Given the description of an element on the screen output the (x, y) to click on. 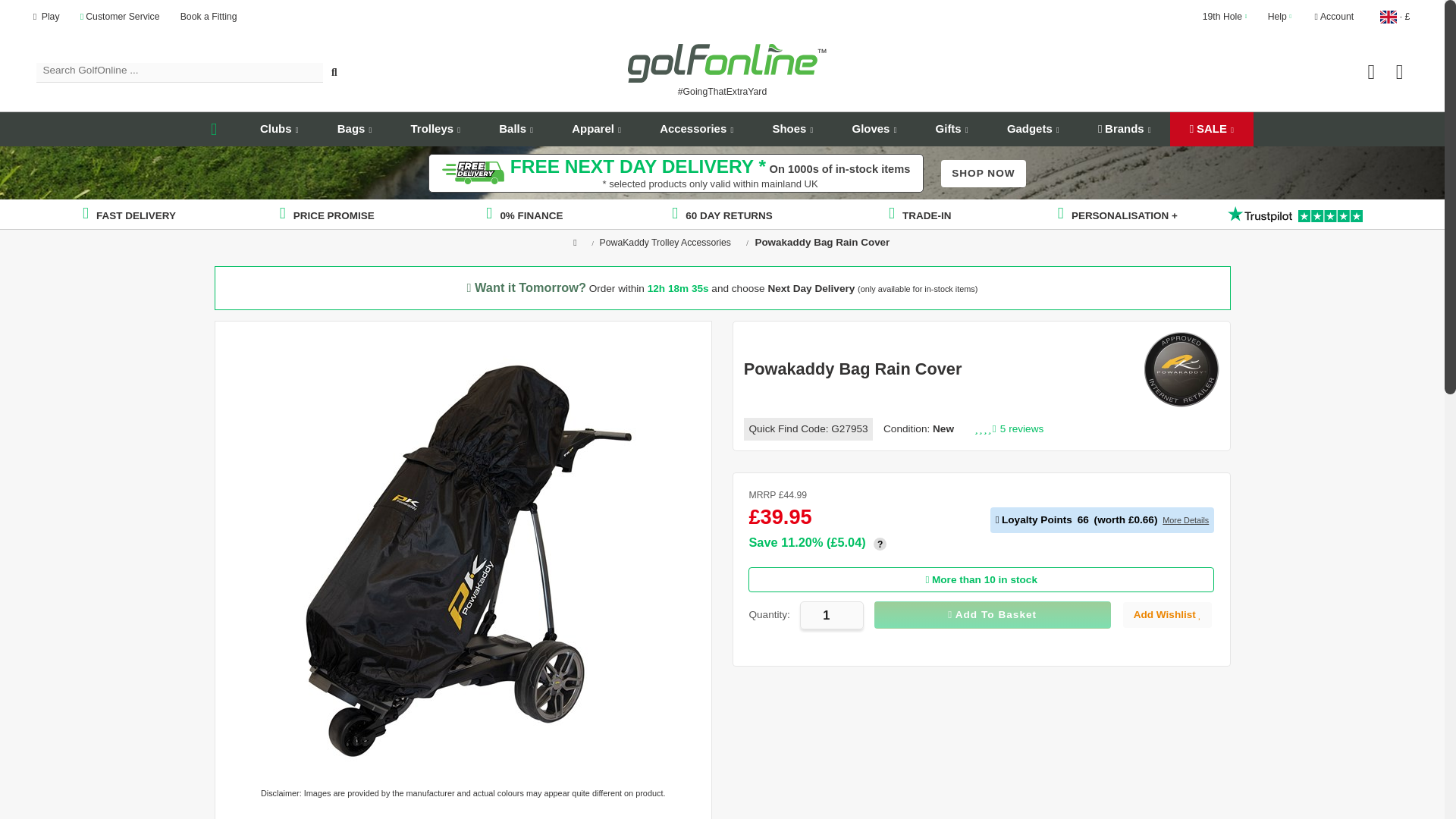
Help (1280, 17)
Bags (354, 129)
Gadgets (1032, 129)
1 (831, 615)
Trolleys (435, 129)
Gloves (873, 129)
Gifts (951, 129)
Customer Service (120, 17)
Search (334, 72)
Home (215, 129)
